Given the description of an element on the screen output the (x, y) to click on. 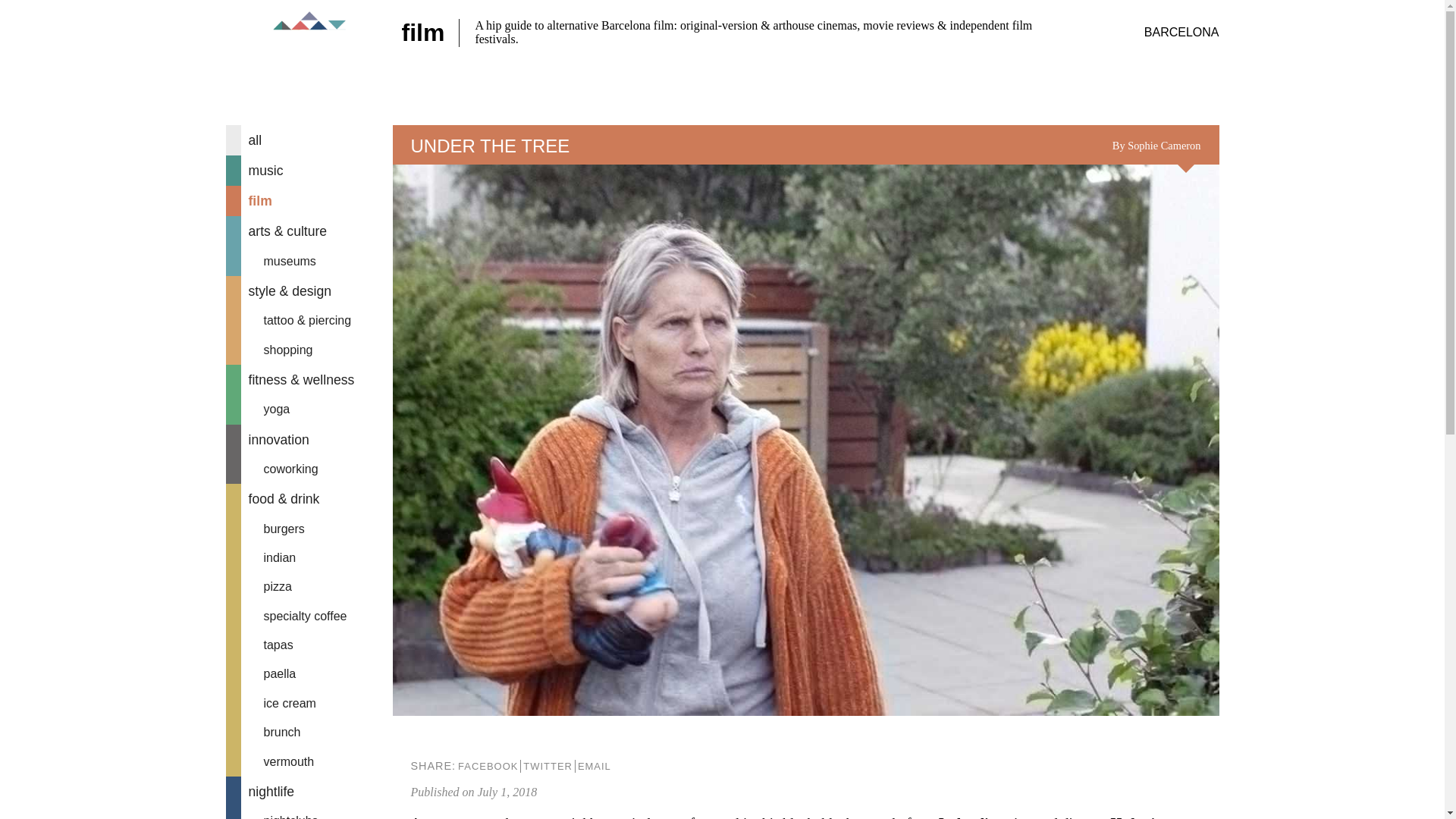
shopping (309, 349)
vermouth (309, 761)
nightclubs (309, 812)
music (309, 170)
nightlife (309, 791)
yoga (309, 409)
TWITTER (547, 766)
ice cream (309, 703)
paella (309, 674)
museums (309, 261)
